Given the description of an element on the screen output the (x, y) to click on. 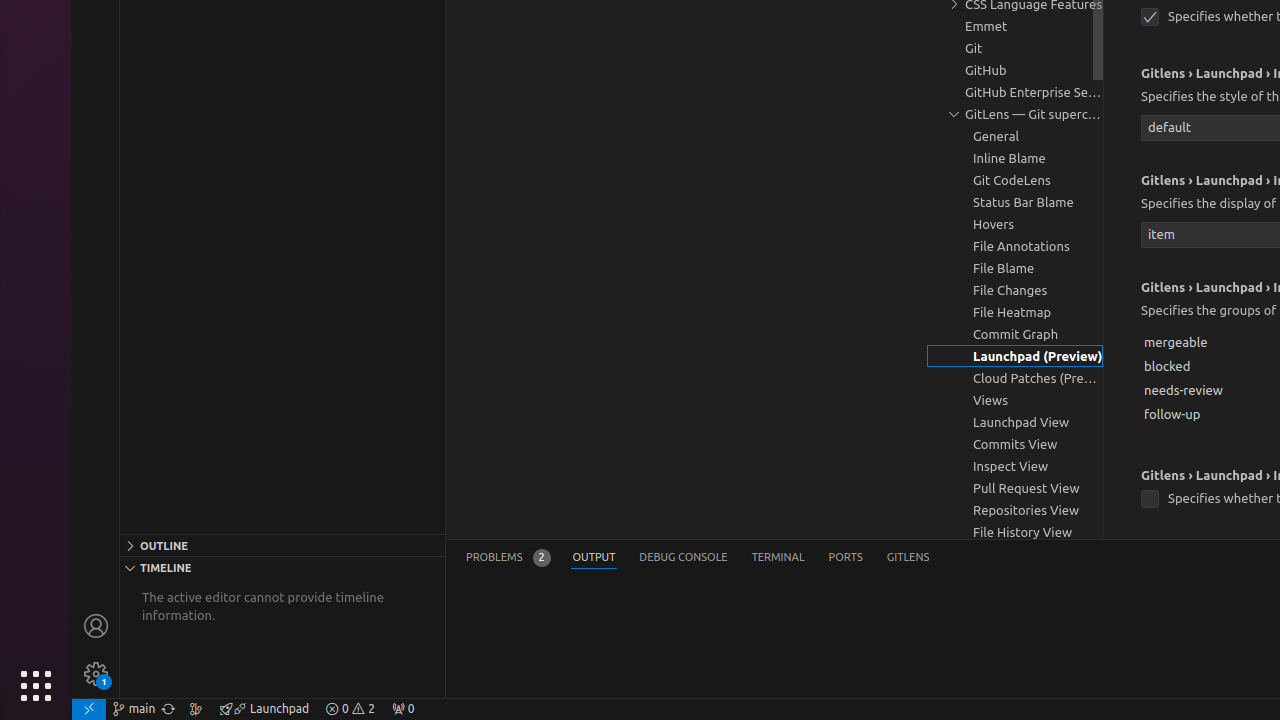
rocket gitlens-unplug Launchpad, GitLens Launchpad ᴘʀᴇᴠɪᴇᴡ    &mdash;    [$(question)](command:gitlens.launchpad.indicator.action?%22info%22 "What is this?") [$(gear)](command:workbench.action.openSettings?%22gitlens.launchpad%22 "Settings")  |  [$(circle-slash) Hide](command:gitlens.launchpad.indicator.action?%22hide%22 "Hide") --- [Launchpad](command:gitlens.launchpad.indicator.action?%info%22 "Learn about Launchpad") organizes your pull requests into actionable groups to help you focus and keep your team unblocked. It's always accessible using the `GitLens: Open Launchpad` command from the Command Palette. --- [Connect an integration](command:gitlens.showLaunchpad?%7B%22source%22%3A%22launchpad-indicator%22%7D "Connect an integration") to get started. Element type: push-button (264, 709)
Cloud Patches (Preview), group Element type: tree-item (1015, 378)
Terminal (Ctrl+`) Element type: page-tab (778, 557)
Hovers, group Element type: tree-item (1015, 224)
Git, group Element type: tree-item (1015, 48)
